Given the description of an element on the screen output the (x, y) to click on. 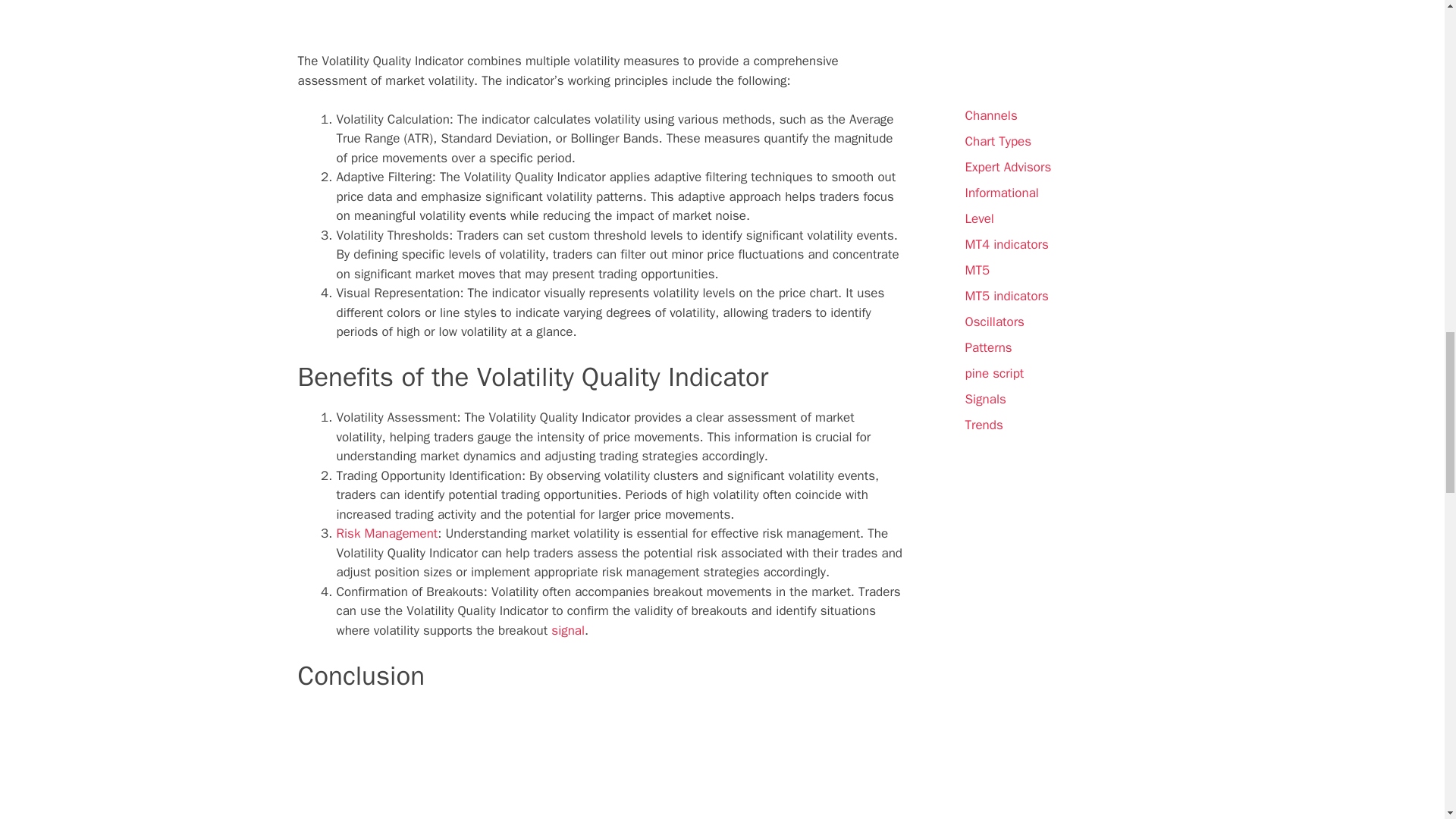
Advertisement (601, 25)
Advertisement (601, 762)
